Given the description of an element on the screen output the (x, y) to click on. 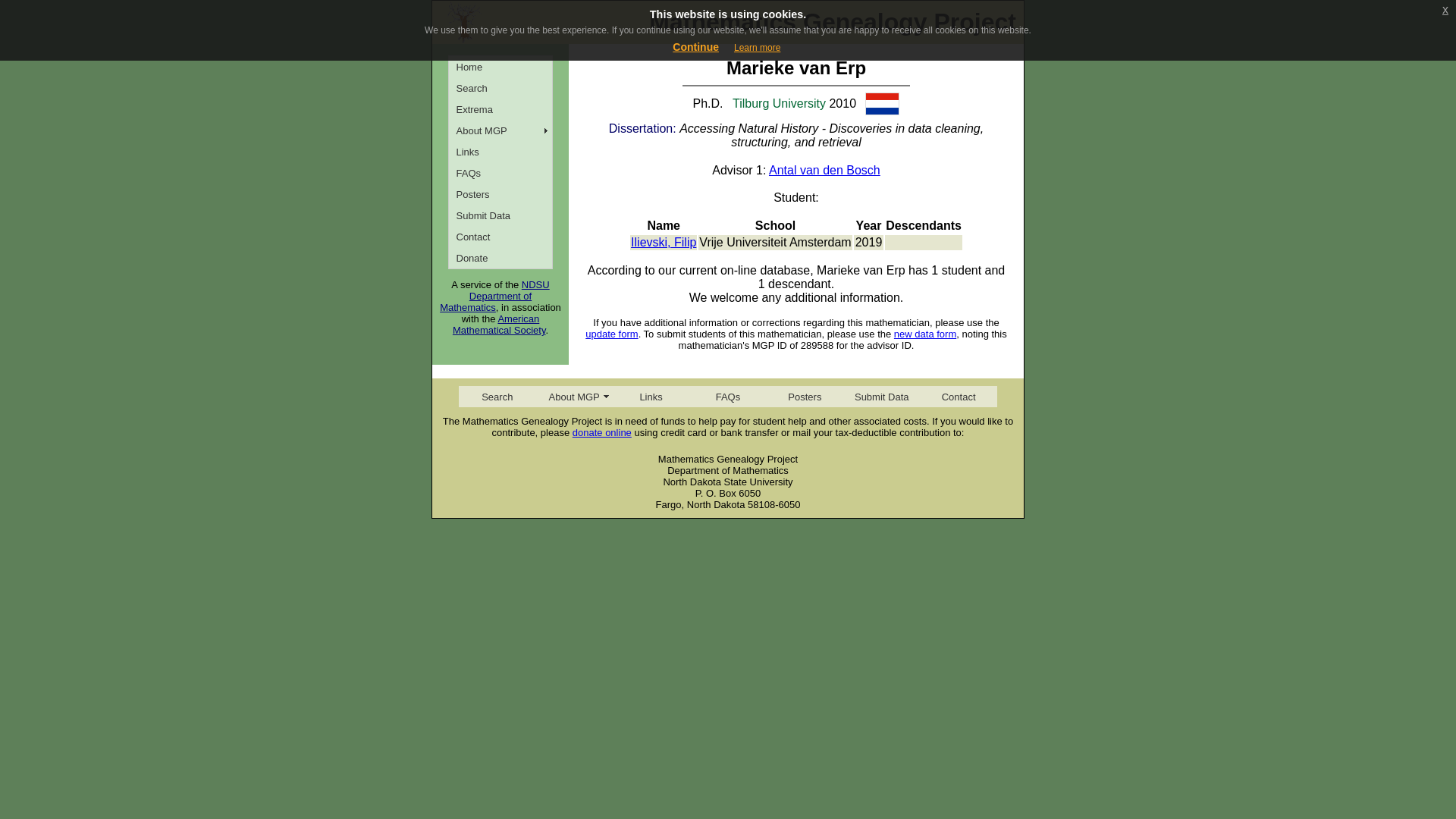
Donate (500, 257)
Links (650, 396)
Netherlands (881, 103)
donate online (601, 432)
American Mathematical Society (499, 323)
new data form (924, 333)
Department of Mathematics (485, 301)
Antal van den Bosch (824, 169)
Search (496, 396)
About MGP (573, 396)
FAQs (726, 396)
Ilievski, Filip (662, 241)
FAQs (500, 172)
Extrema (500, 108)
Learn more (756, 47)
